Given the description of an element on the screen output the (x, y) to click on. 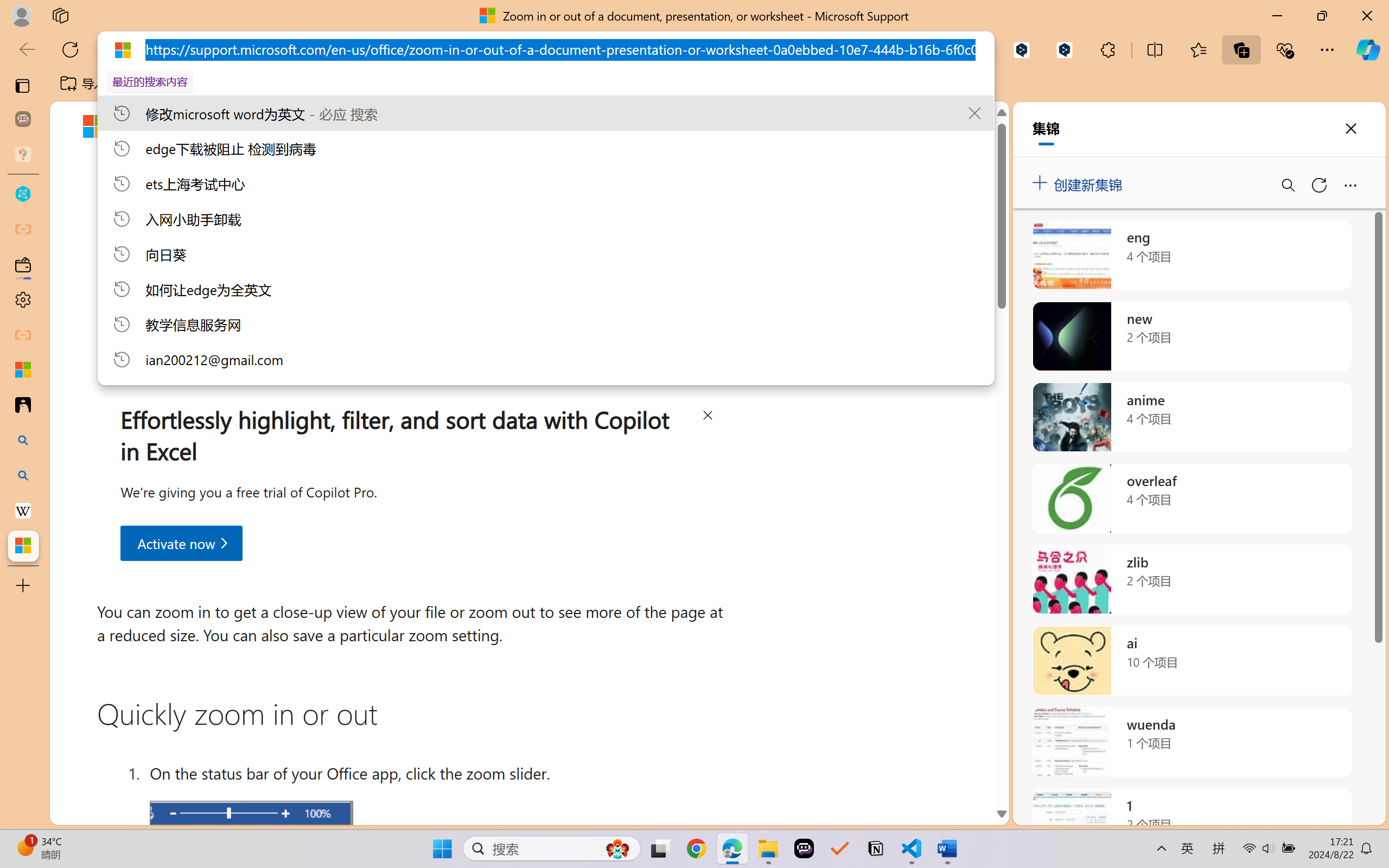
Earth - Wikipedia (22, 510)
Sign in to your account (946, 127)
